Given the description of an element on the screen output the (x, y) to click on. 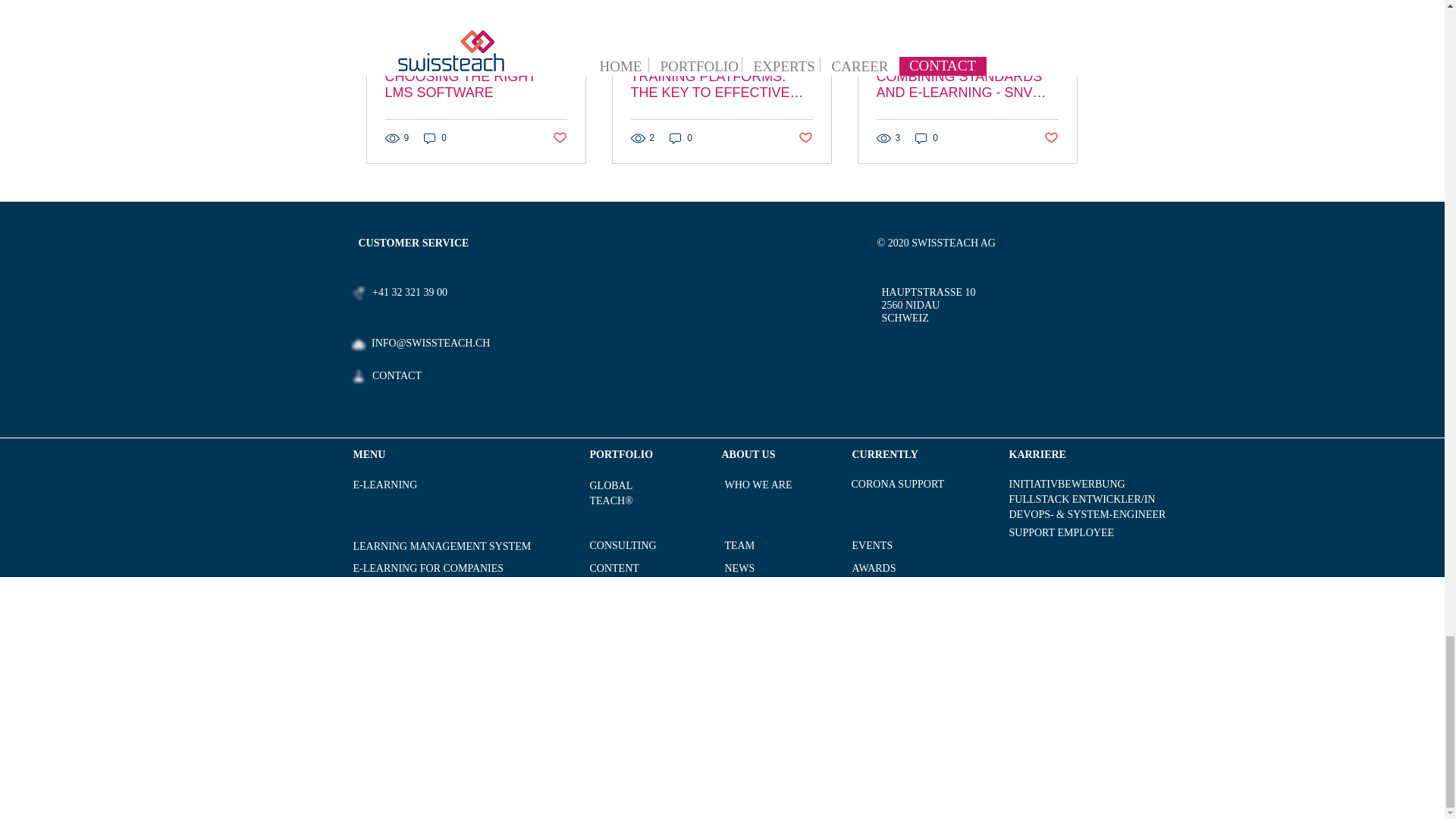
Post not marked as liked (558, 138)
0 (435, 138)
CHOOSING THE RIGHT LMS SOFTWARE (476, 84)
TRAINING PLATFORMS: THE KEY TO EFFECTIVE EMPLOYEE TRAINING (721, 84)
